Given the description of an element on the screen output the (x, y) to click on. 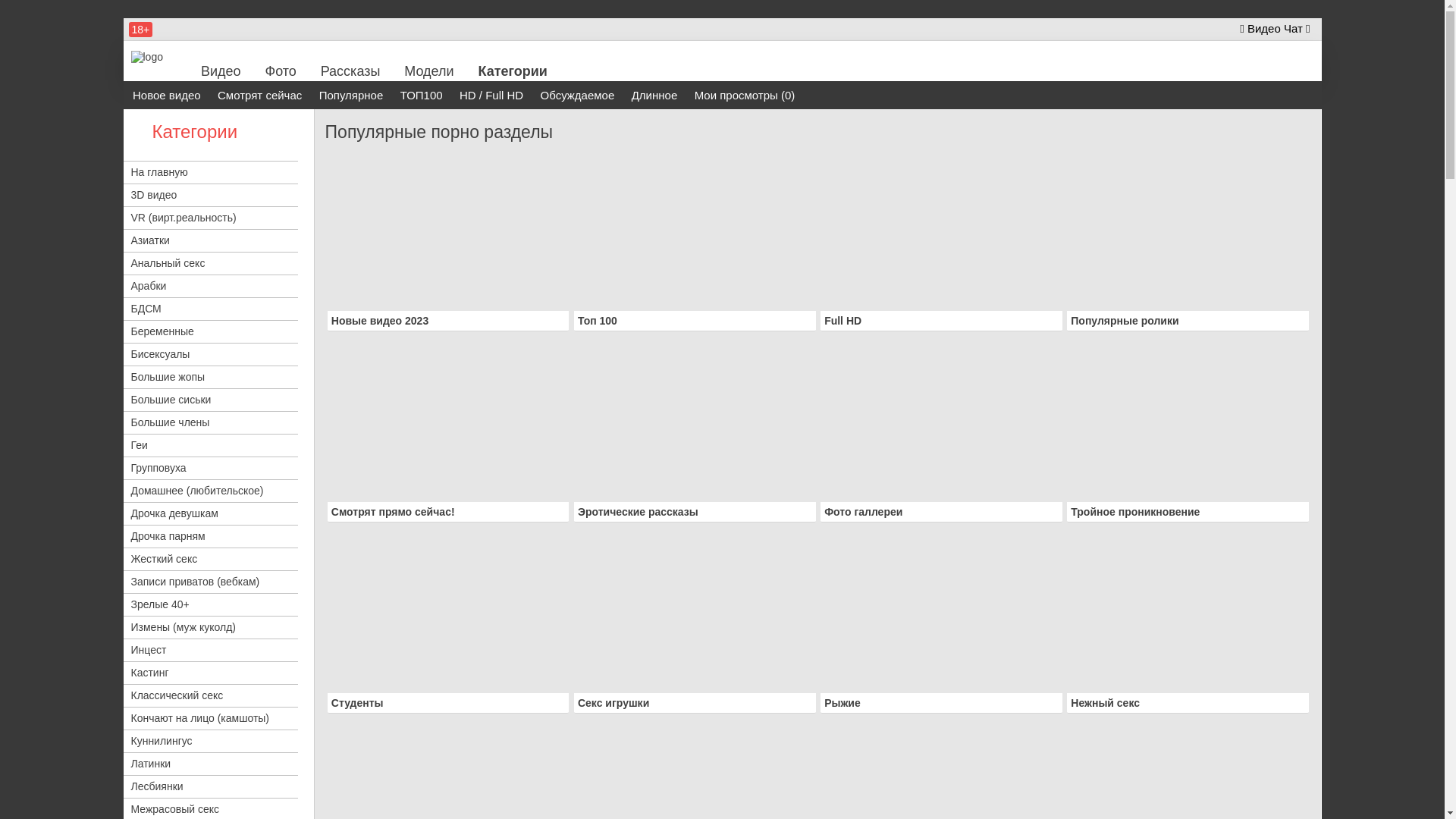
Full HD Element type: text (842, 320)
HD / Full HD Element type: text (491, 95)
